Given the description of an element on the screen output the (x, y) to click on. 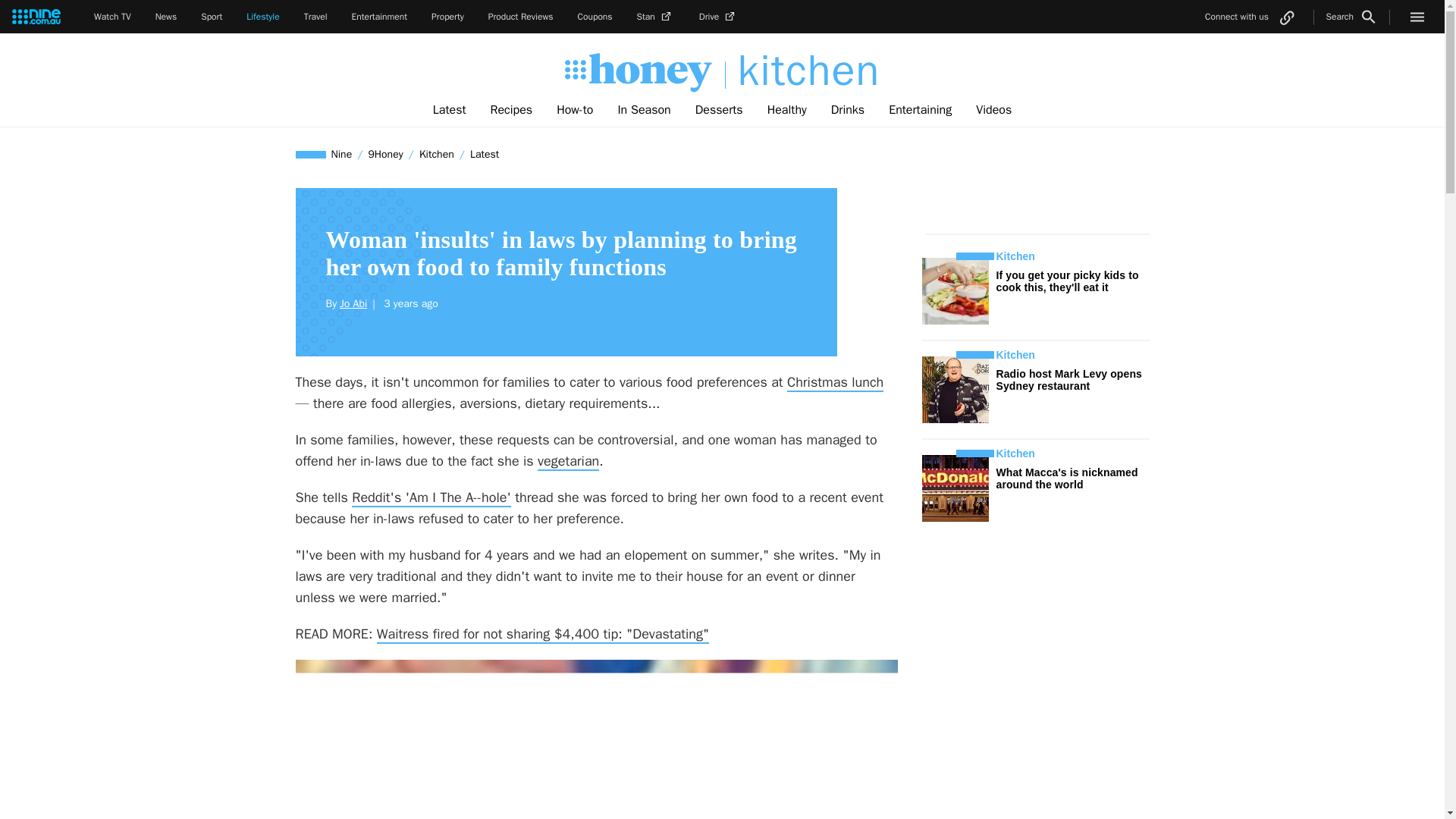
9Honey (384, 154)
Lifestyle (262, 16)
Latest (483, 154)
Desserts (718, 109)
Entertainment (379, 16)
Watch TV (112, 16)
Coupons (595, 16)
Jo Abi (352, 303)
Sport (211, 16)
Reddit's 'Am I The A--hole' (431, 497)
Product Reviews (520, 16)
Recipes (511, 109)
Property (447, 16)
Videos (993, 109)
Christmas lunch (835, 382)
